Given the description of an element on the screen output the (x, y) to click on. 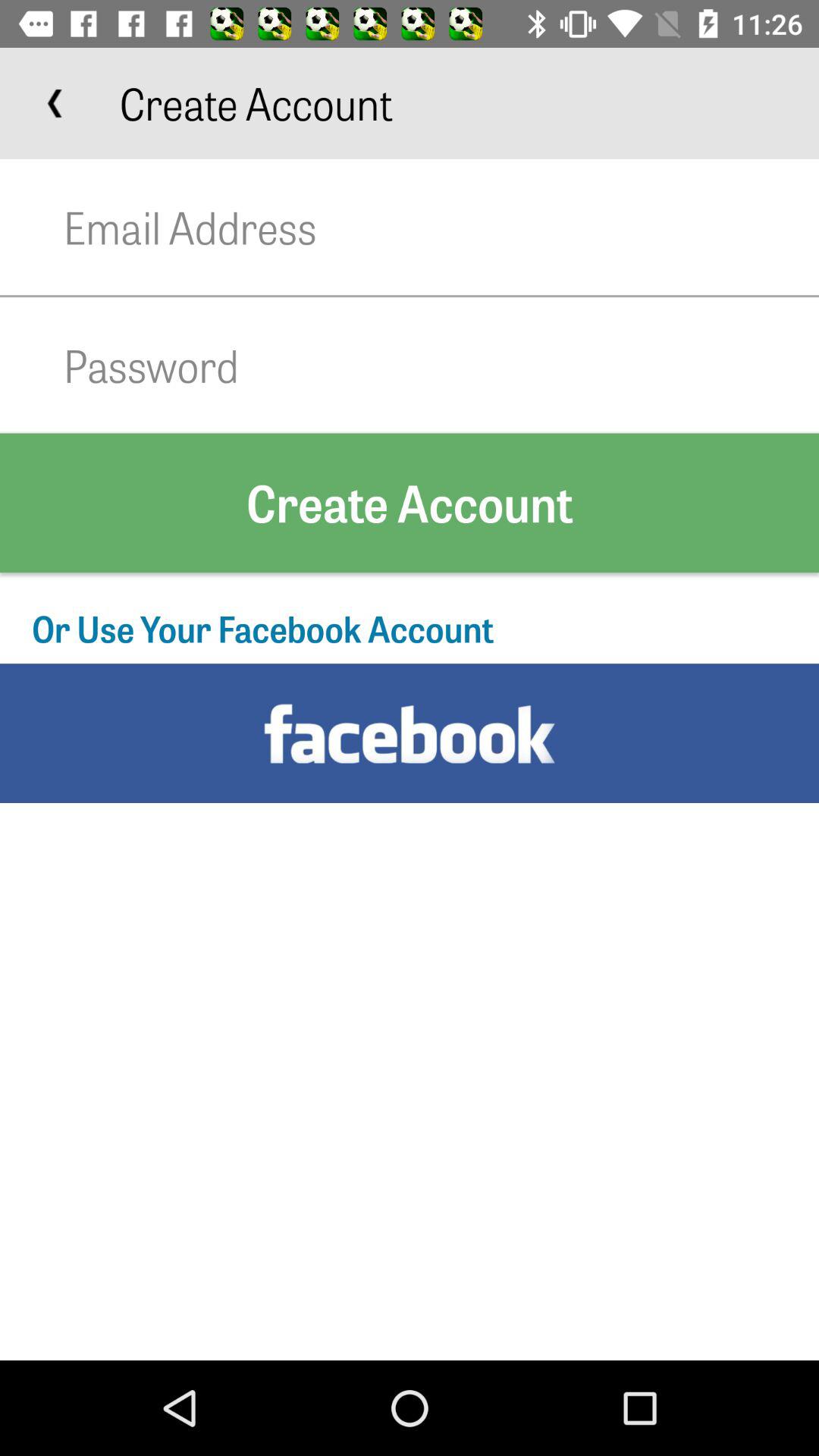
enter password (441, 365)
